Given the description of an element on the screen output the (x, y) to click on. 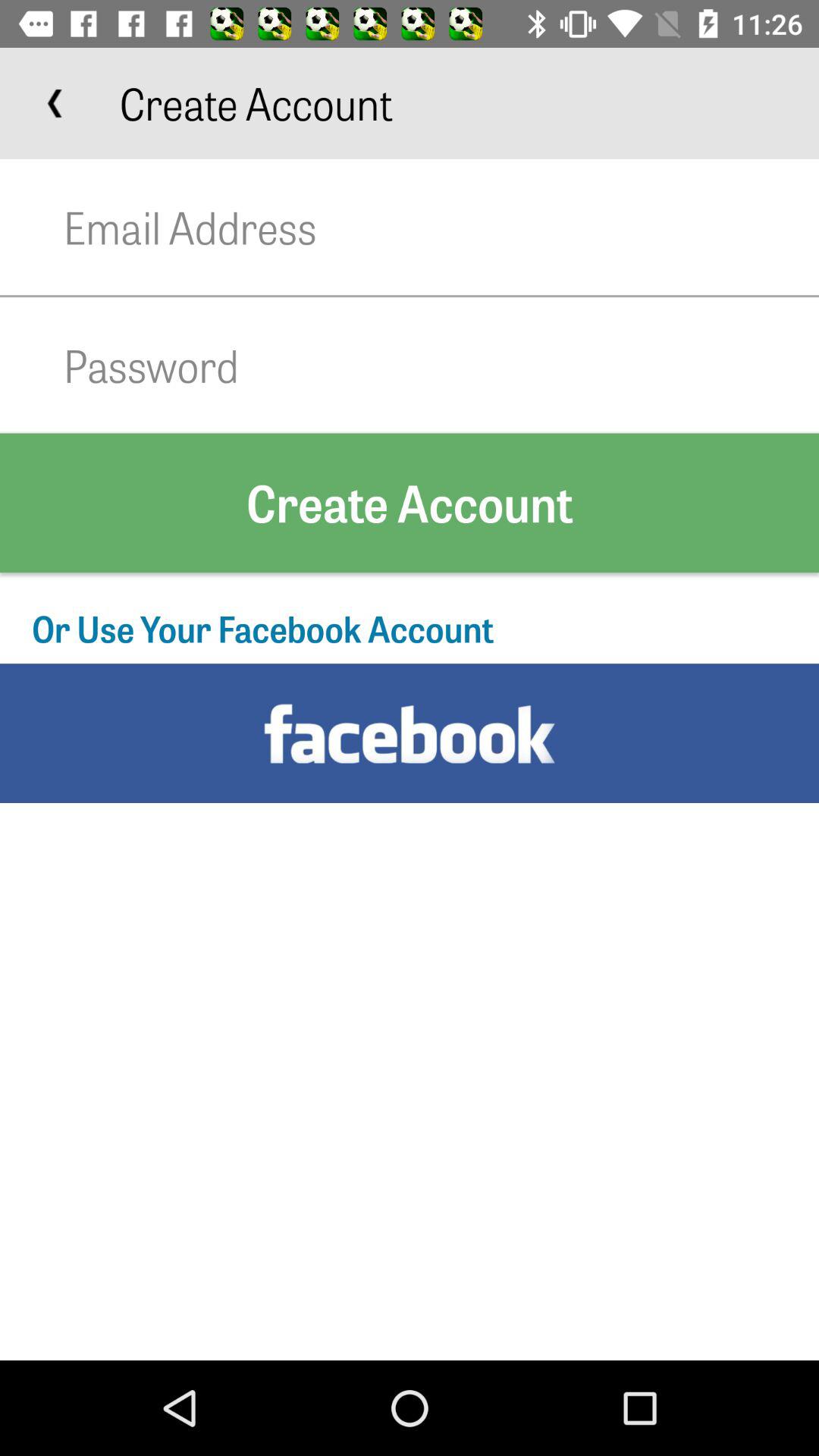
enter password (441, 365)
